Given the description of an element on the screen output the (x, y) to click on. 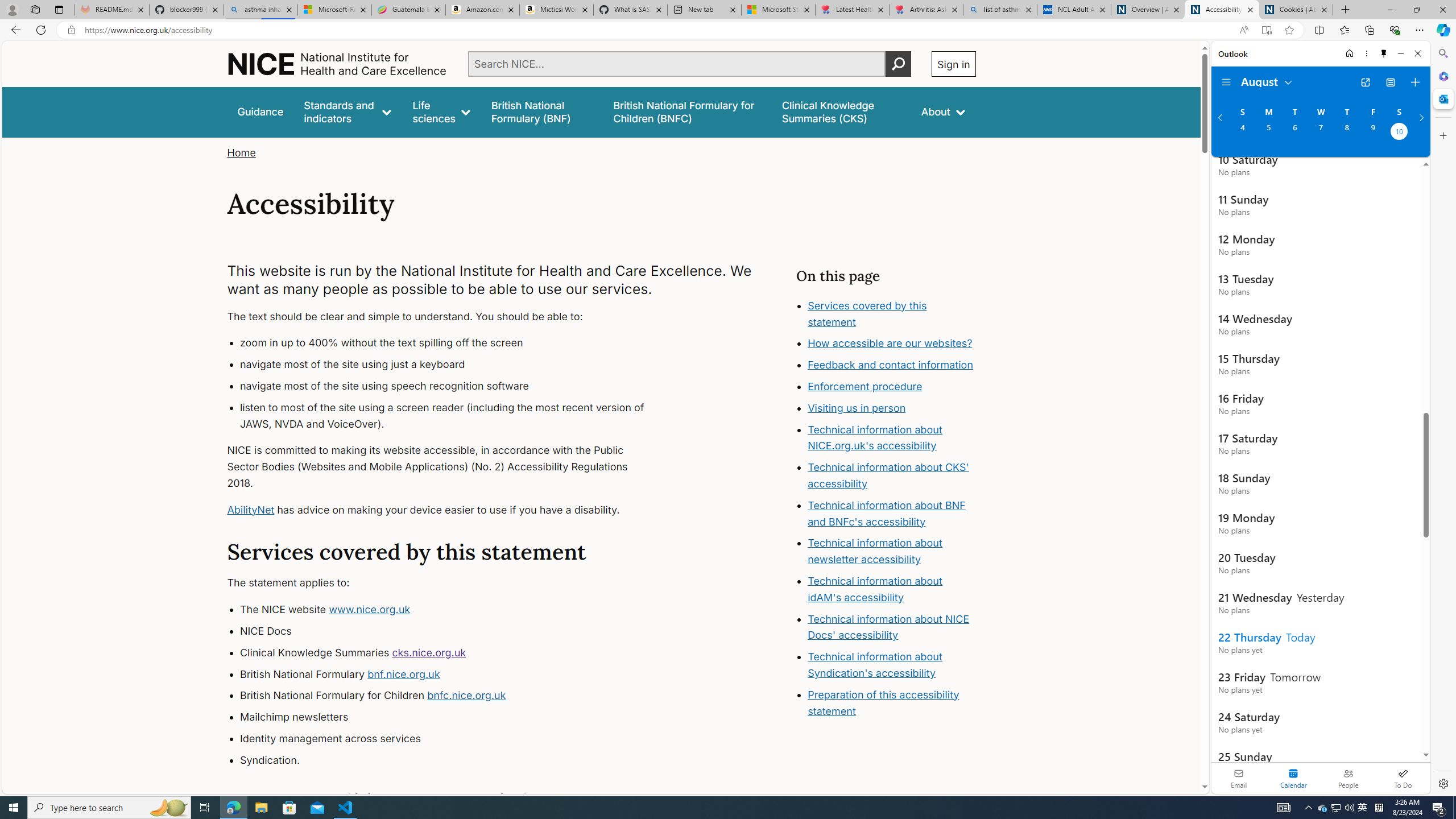
Folder navigation (1225, 82)
Friday, August 9, 2024.  (1372, 132)
How accessible are our websites? (890, 343)
Create event (1414, 82)
Wednesday, August 7, 2024.  (1320, 132)
false (841, 111)
navigate most of the site using just a keyboard (452, 364)
